Given the description of an element on the screen output the (x, y) to click on. 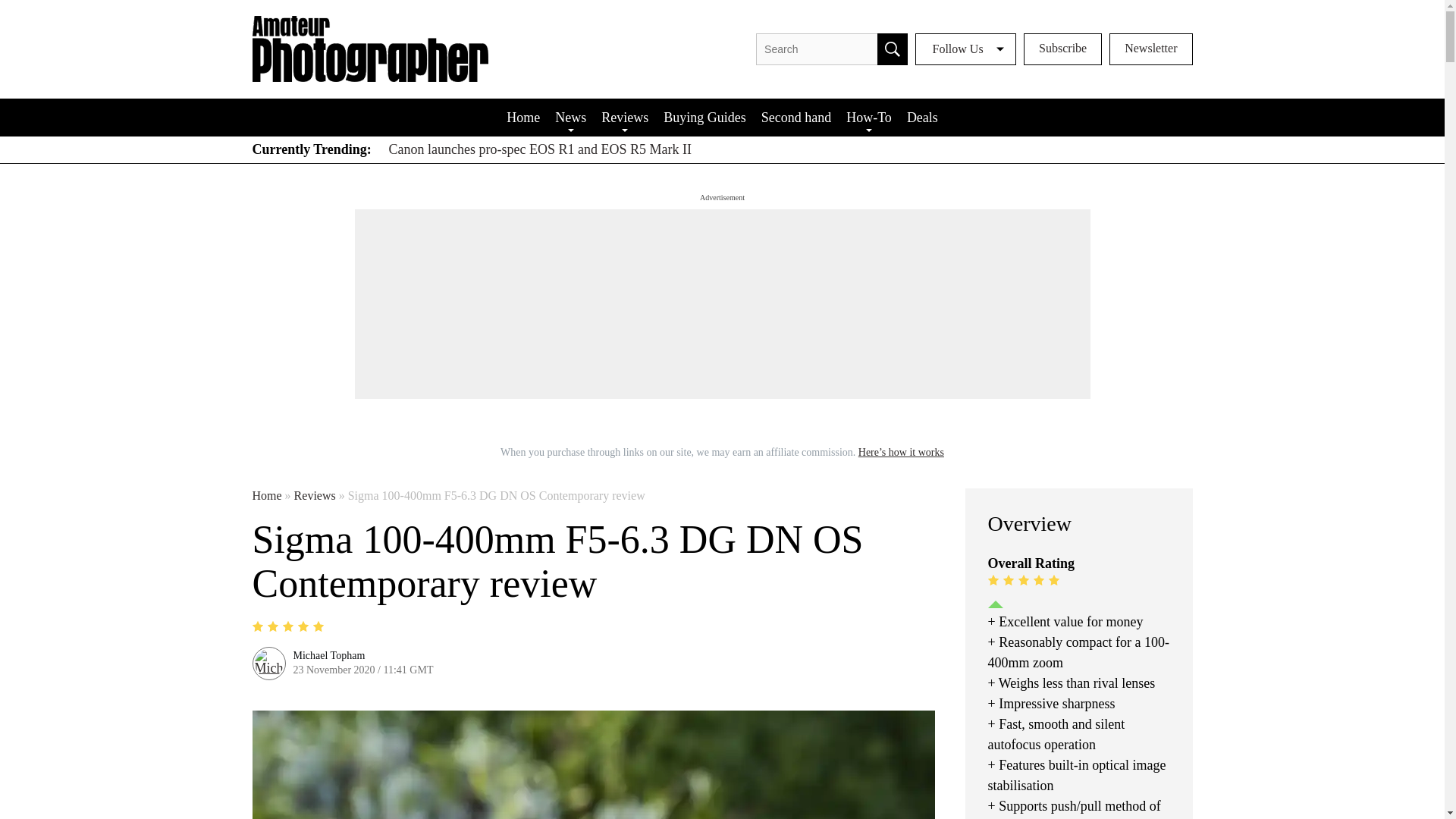
Follow Us (965, 49)
News (570, 117)
Newsletter (1150, 49)
Second hand (796, 117)
How-To (868, 117)
Home (523, 117)
Subscribe (1062, 49)
Reviews (625, 117)
Deals (921, 117)
Buying Guides (705, 117)
Search (892, 49)
